Given the description of an element on the screen output the (x, y) to click on. 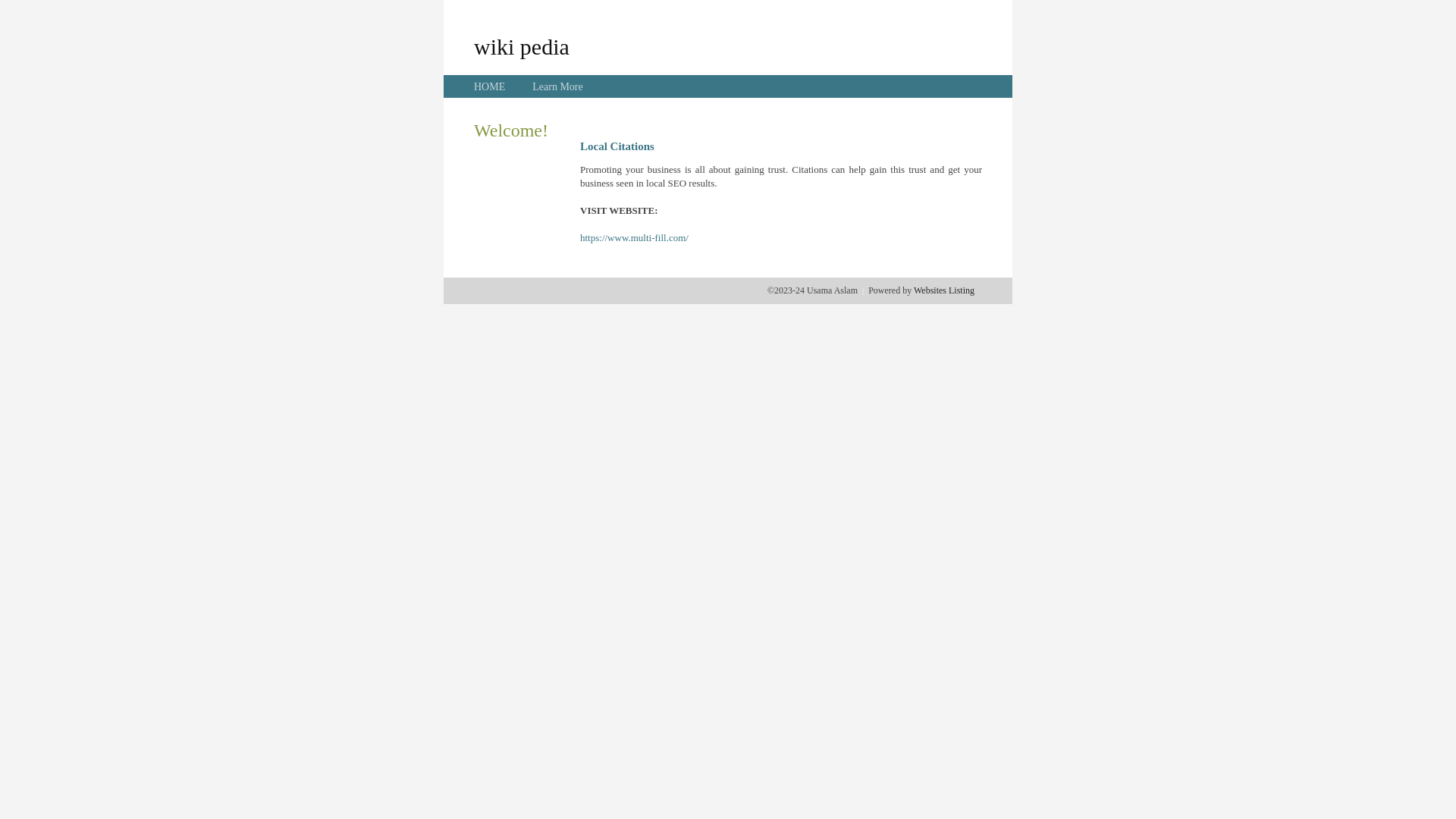
HOME Element type: text (489, 86)
Learn More Element type: text (557, 86)
https://www.multi-fill.com/ Element type: text (634, 237)
Websites Listing Element type: text (943, 290)
wiki pedia Element type: text (521, 46)
